Given the description of an element on the screen output the (x, y) to click on. 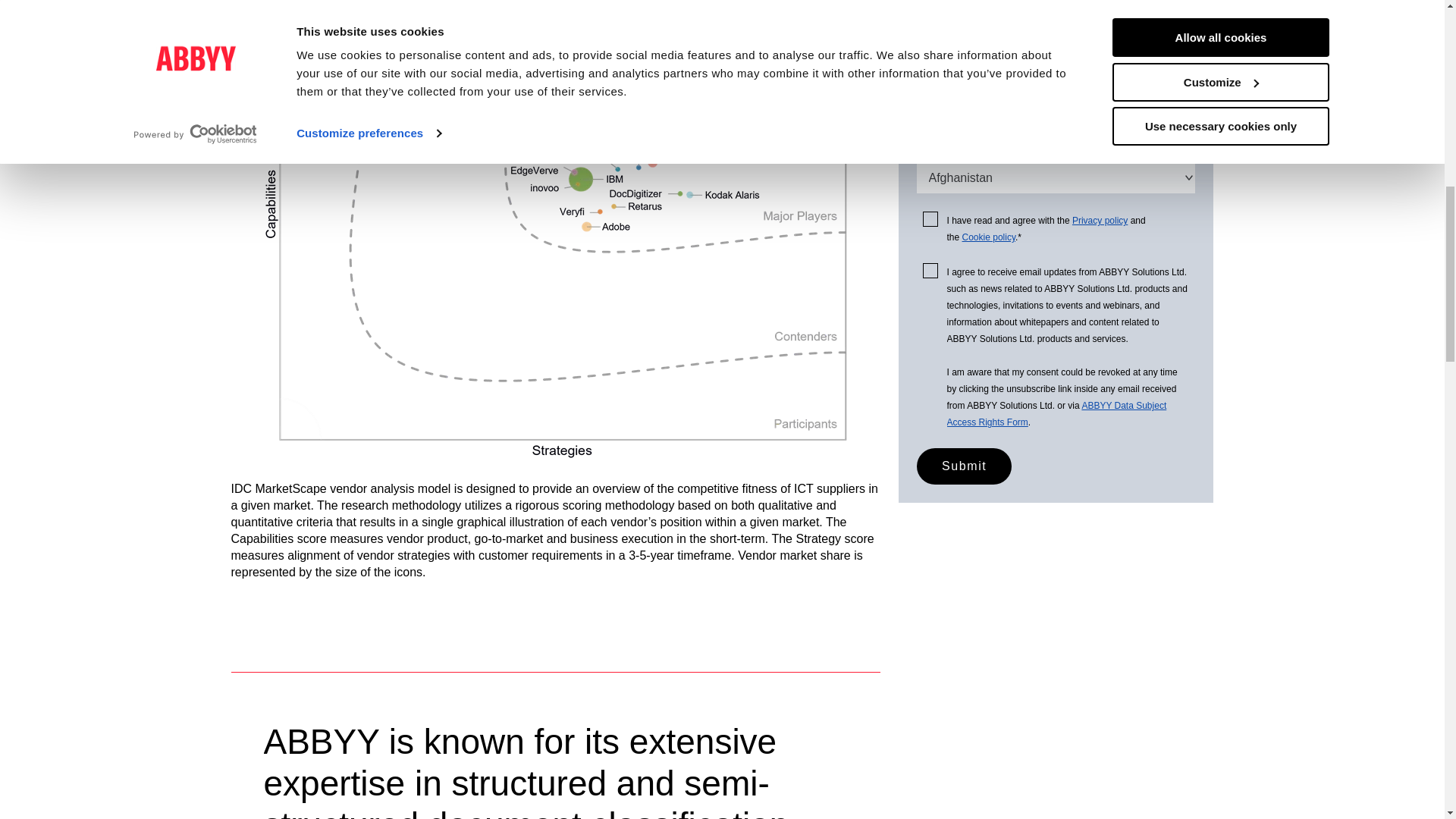
true (929, 218)
true (929, 270)
Submit (962, 465)
